Given the description of an element on the screen output the (x, y) to click on. 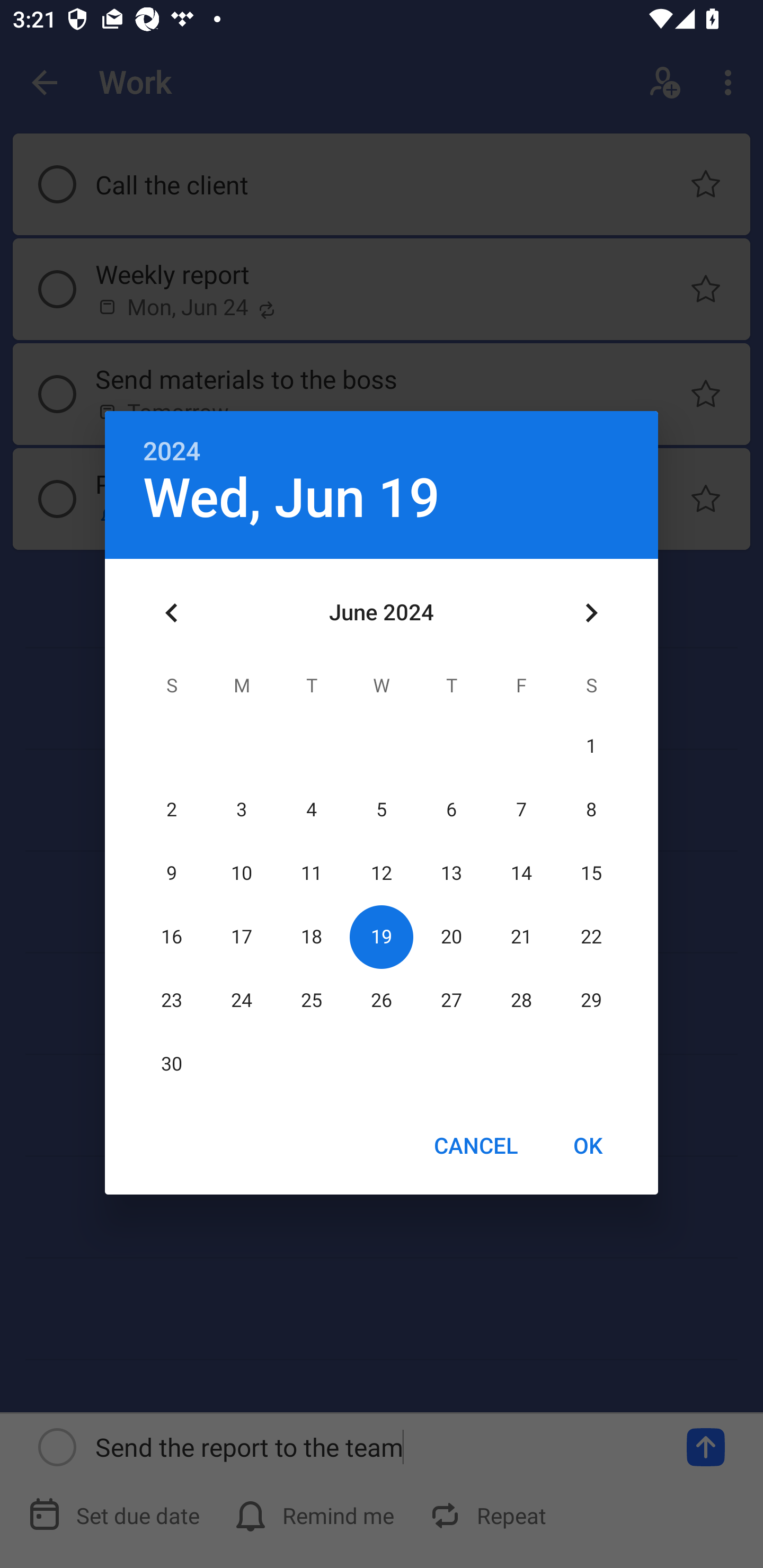
24 24 June 2024 (241, 1000)
